Given the description of an element on the screen output the (x, y) to click on. 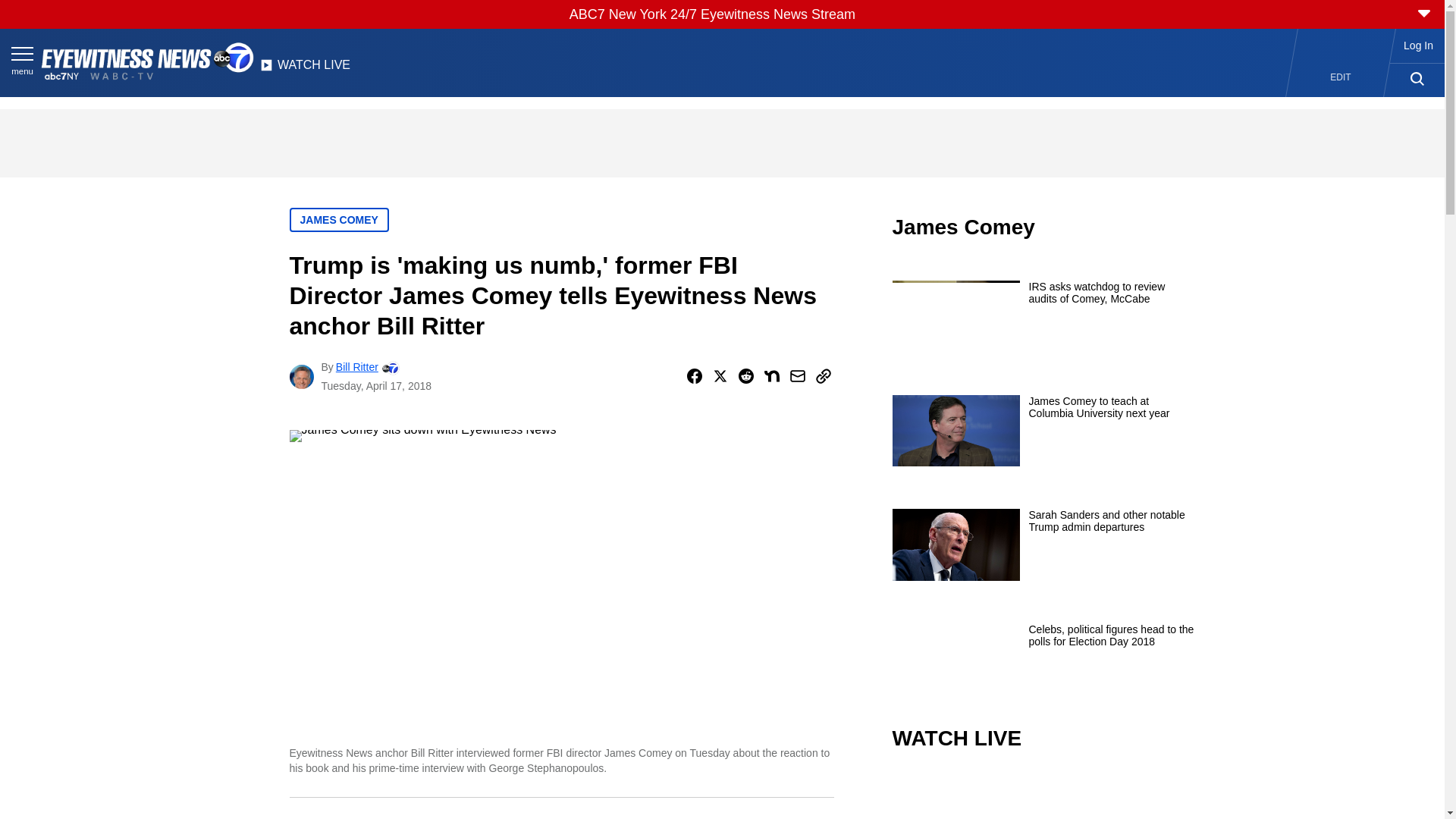
WATCH LIVE (305, 69)
video.title (1043, 796)
EDIT (1340, 77)
